Given the description of an element on the screen output the (x, y) to click on. 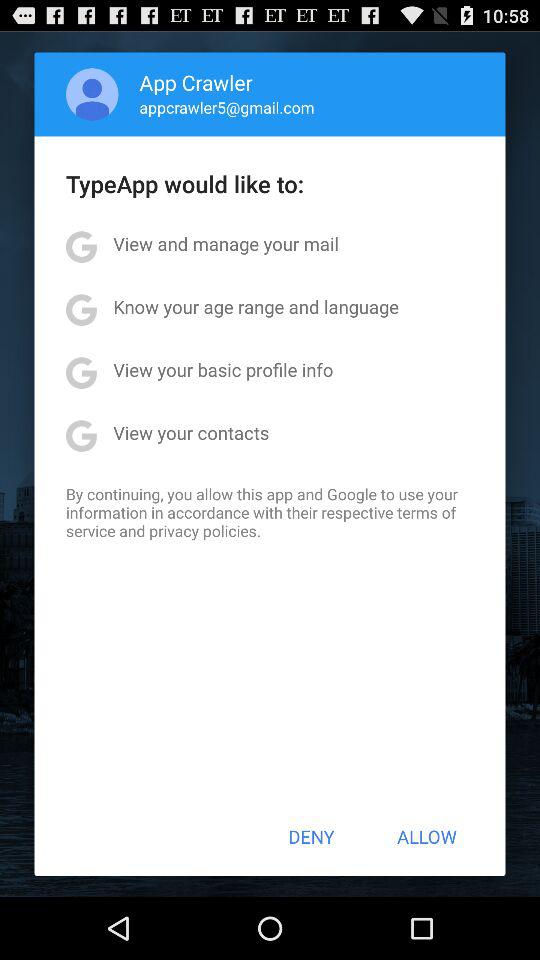
scroll until the know your age icon (255, 306)
